Given the description of an element on the screen output the (x, y) to click on. 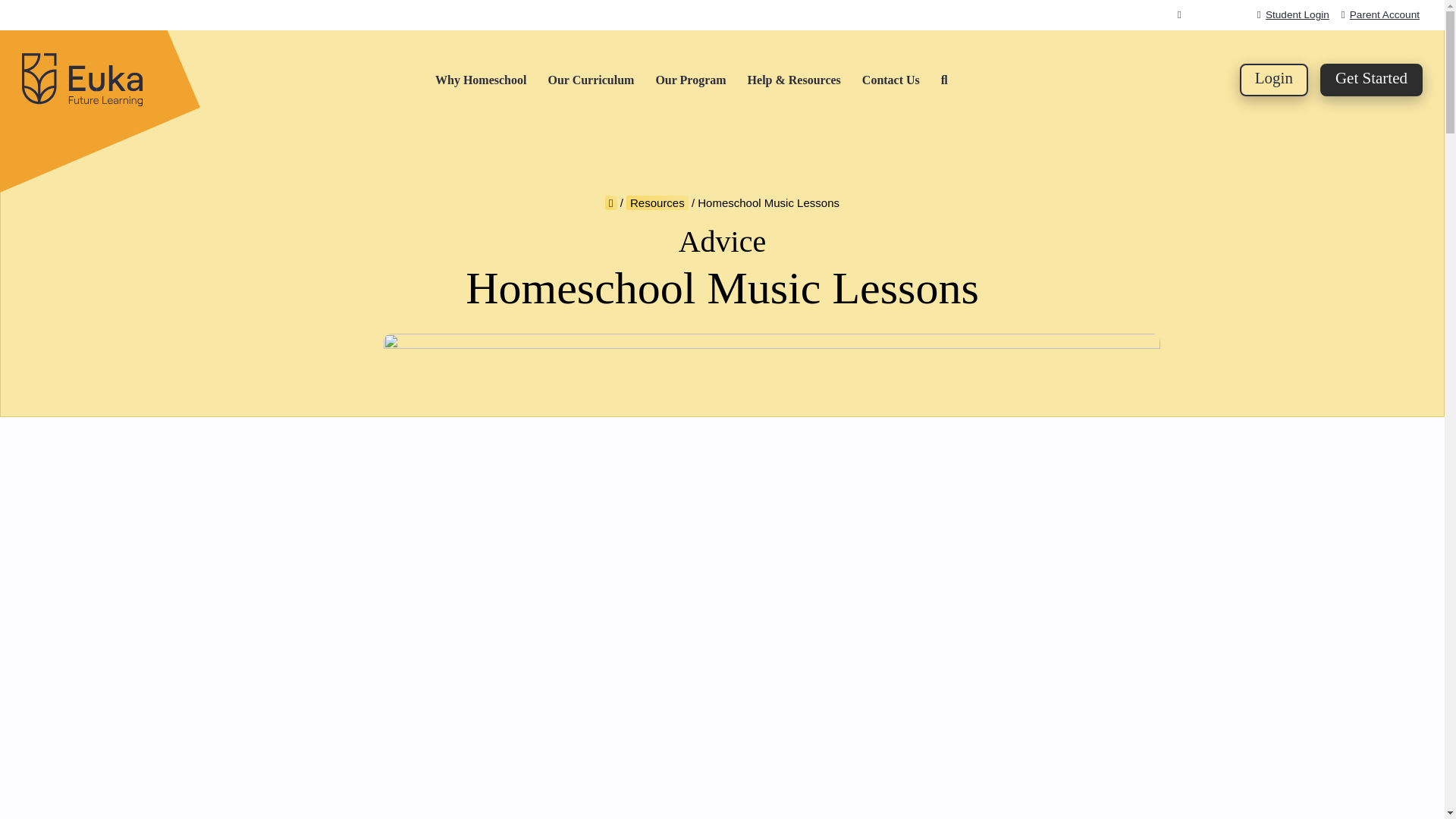
Student Login (1293, 14)
Our Program (690, 80)
Our Curriculum (590, 80)
Get Started (1371, 79)
Contact Us (890, 80)
Why Homeschool (480, 80)
Parent Account (1379, 14)
Login (1273, 79)
